Given the description of an element on the screen output the (x, y) to click on. 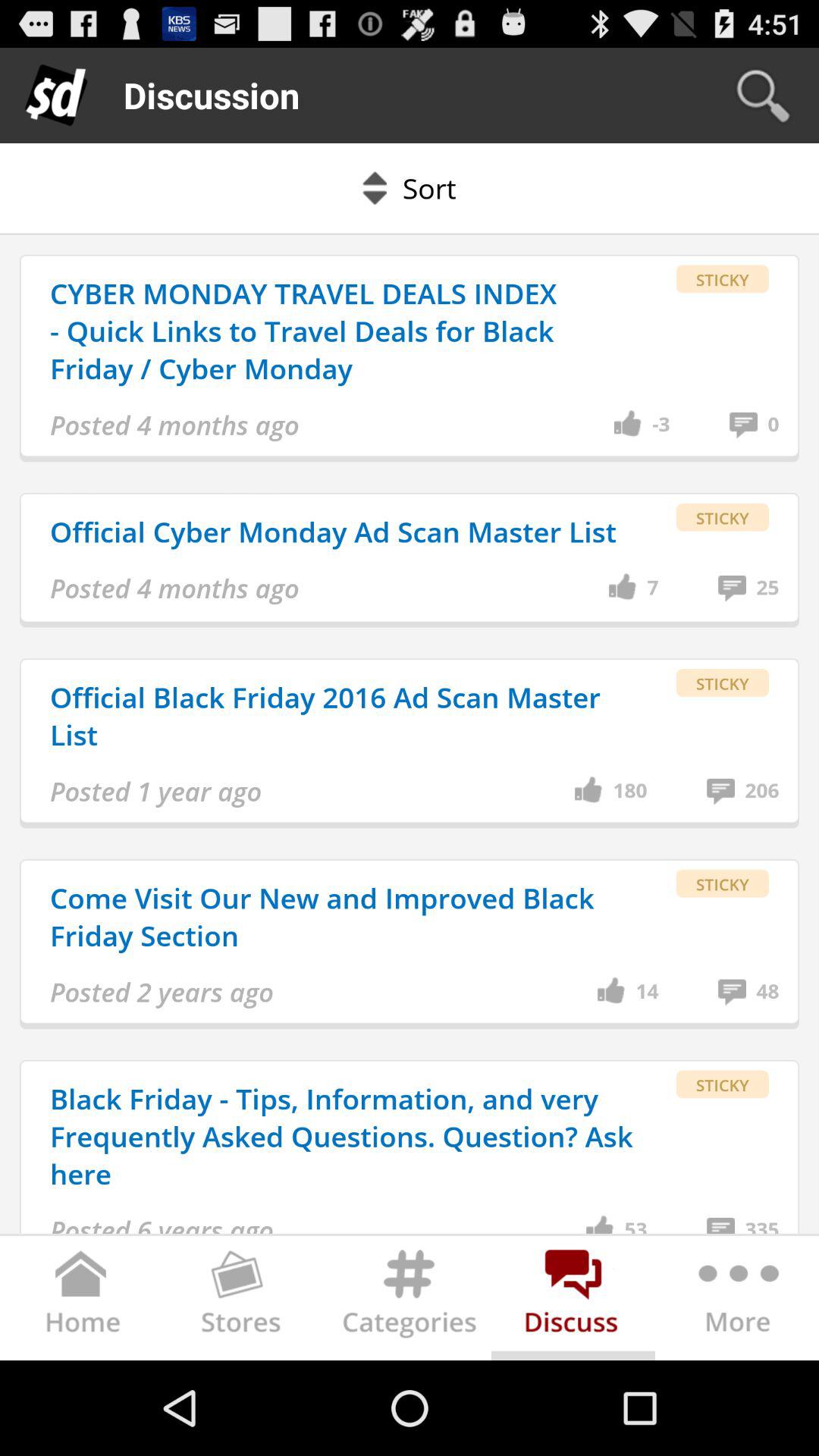
select 53 (635, 1224)
